Given the description of an element on the screen output the (x, y) to click on. 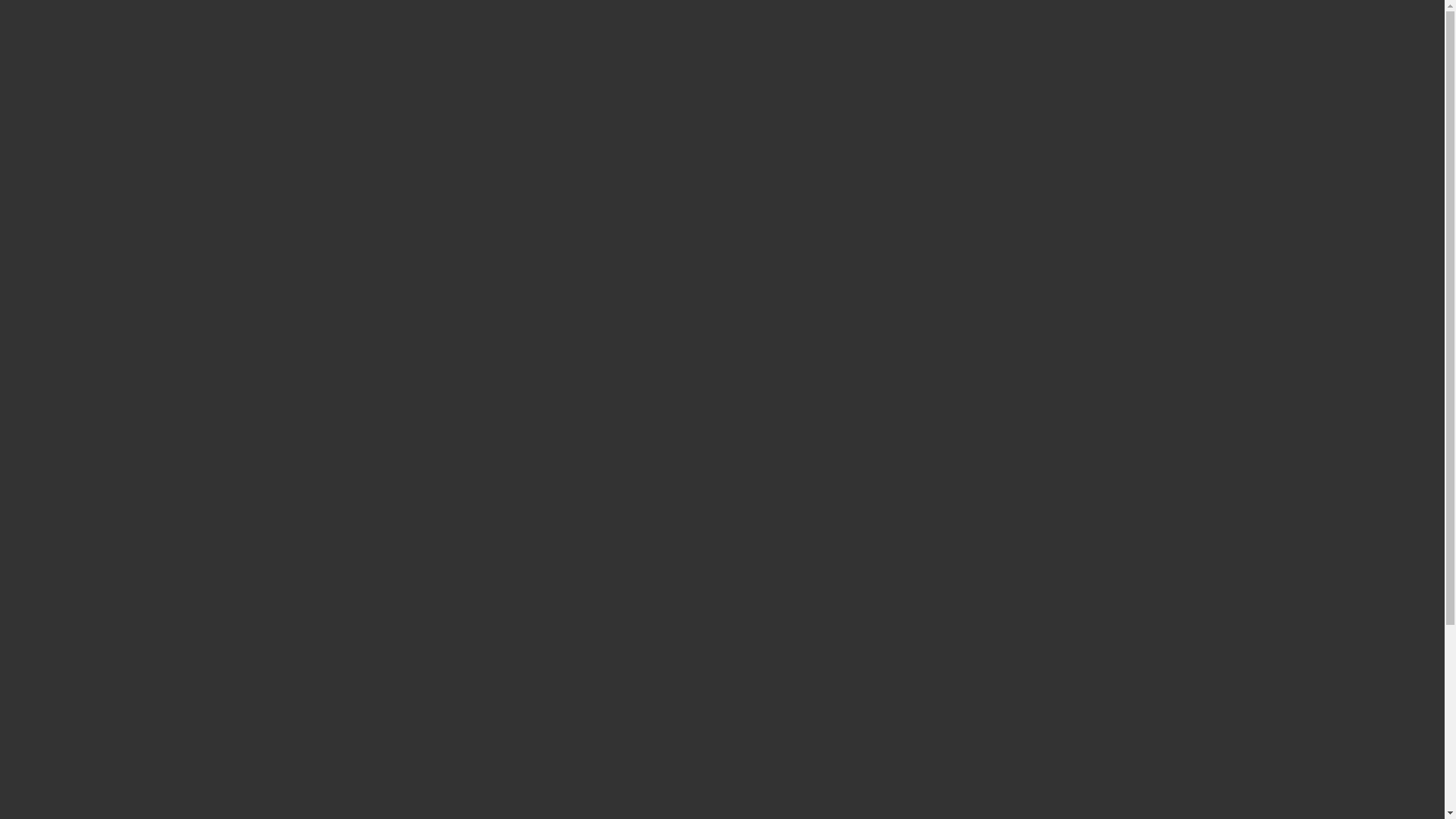
Verein Element type: text (46, 467)
Kontakt Element type: text (49, 537)
Agenda Element type: text (49, 481)
Unser Organist Element type: text (66, 661)
Presse Element type: text (45, 509)
Chorleiterin Element type: text (59, 619)
Photoalbum Element type: text (59, 495)
Willkommen Element type: text (62, 453)
Chor Element type: text (42, 633)
Vorstand Element type: text (51, 605)
Login Element type: text (44, 579)
Geschichte Element type: text (57, 646)
Links Element type: text (43, 551)
